Given the description of an element on the screen output the (x, y) to click on. 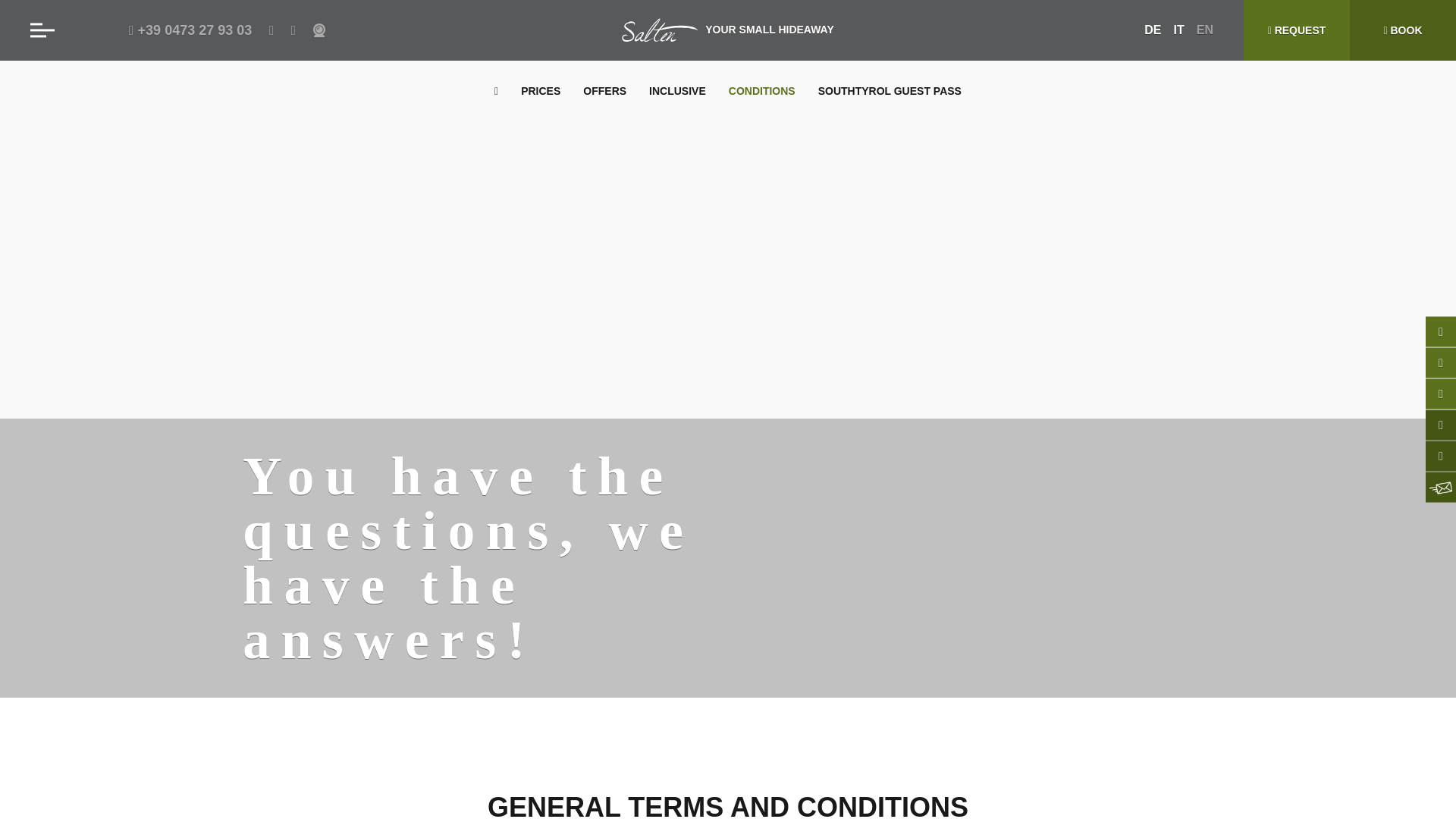
DE (1152, 29)
IT (1179, 29)
YOUR SMALL HIDEAWAY (727, 29)
REQUEST (1296, 30)
